Given the description of an element on the screen output the (x, y) to click on. 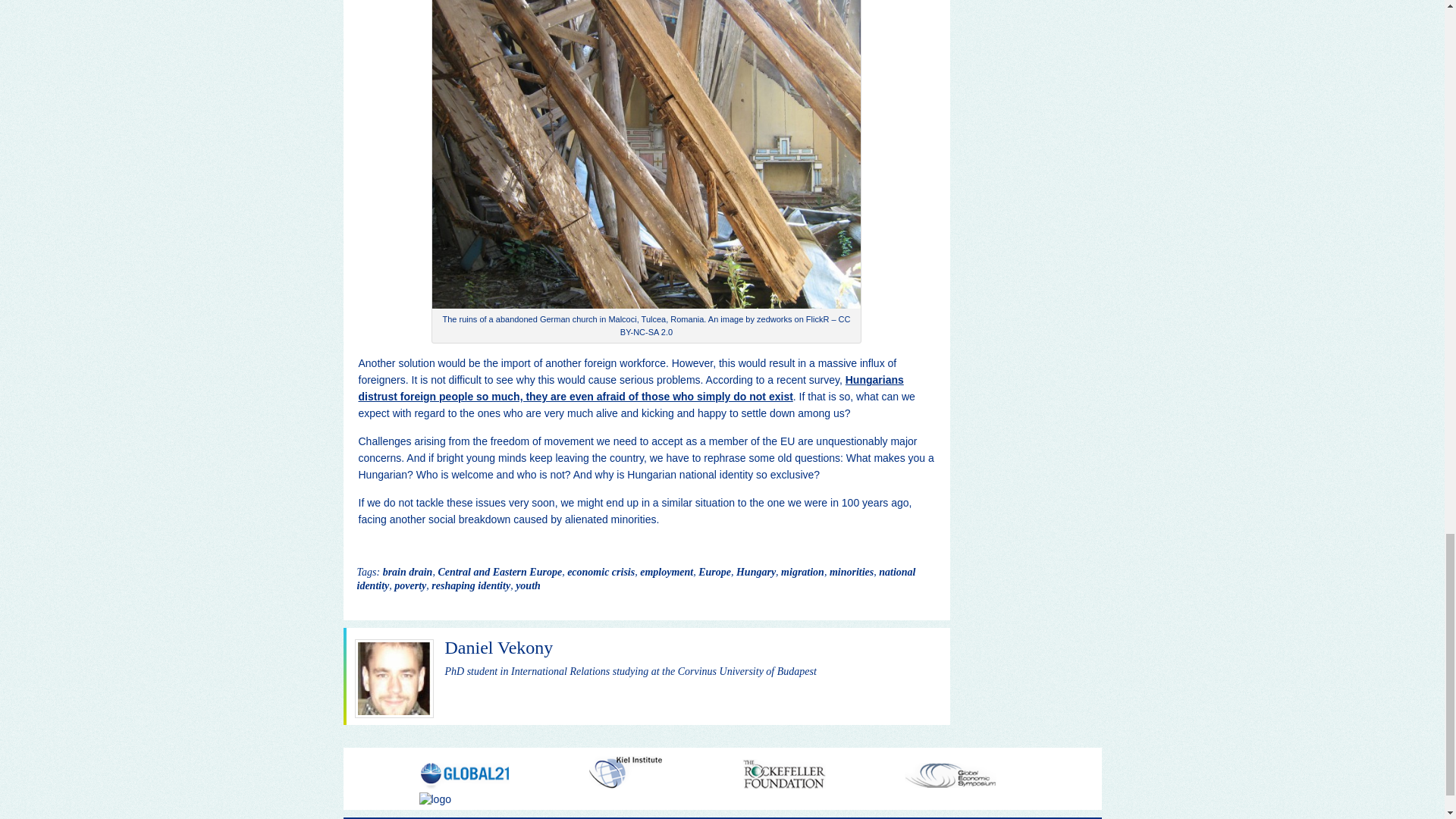
employment (666, 572)
Central and Eastern Europe (500, 572)
Daniel Vekony (498, 647)
brain drain (407, 572)
economic crisis (600, 572)
Global21 (464, 785)
Hungary (756, 572)
migration (802, 572)
Europe (714, 572)
